Given the description of an element on the screen output the (x, y) to click on. 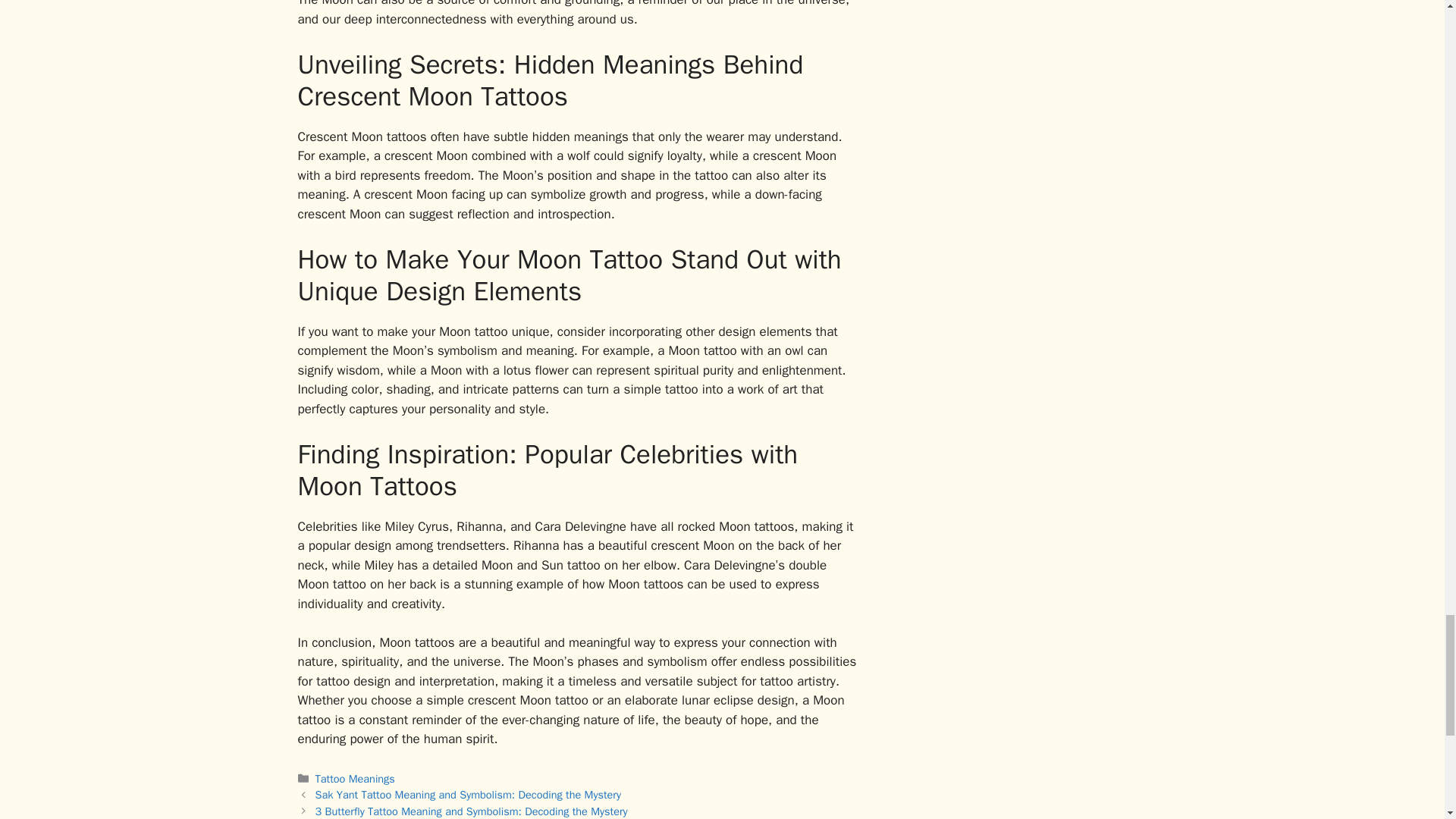
Tattoo Meanings (354, 778)
Sak Yant Tattoo Meaning and Symbolism: Decoding the Mystery (468, 794)
